Given the description of an element on the screen output the (x, y) to click on. 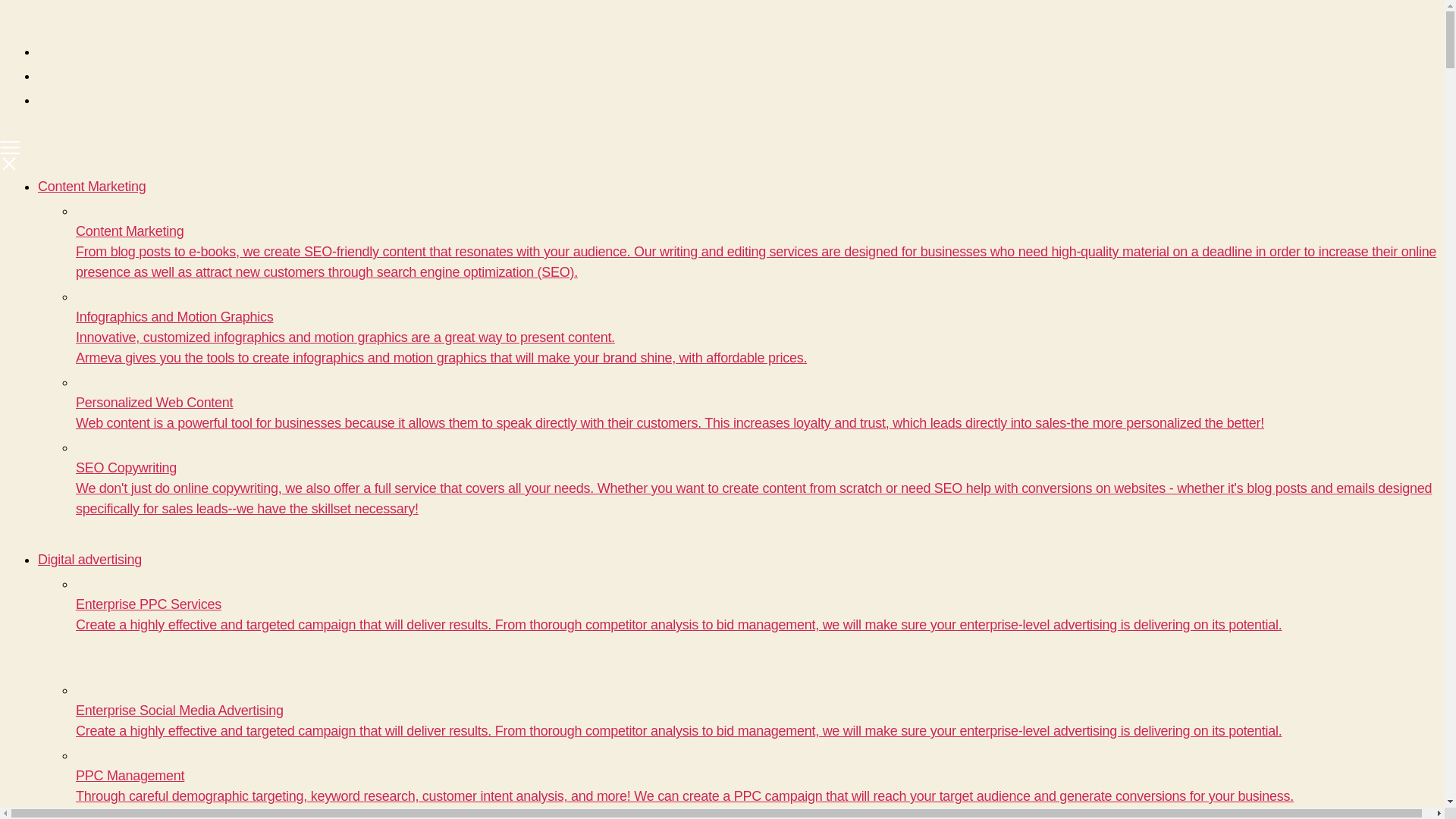
Digital advertising (89, 559)
Content Marketing (92, 186)
